Given the description of an element on the screen output the (x, y) to click on. 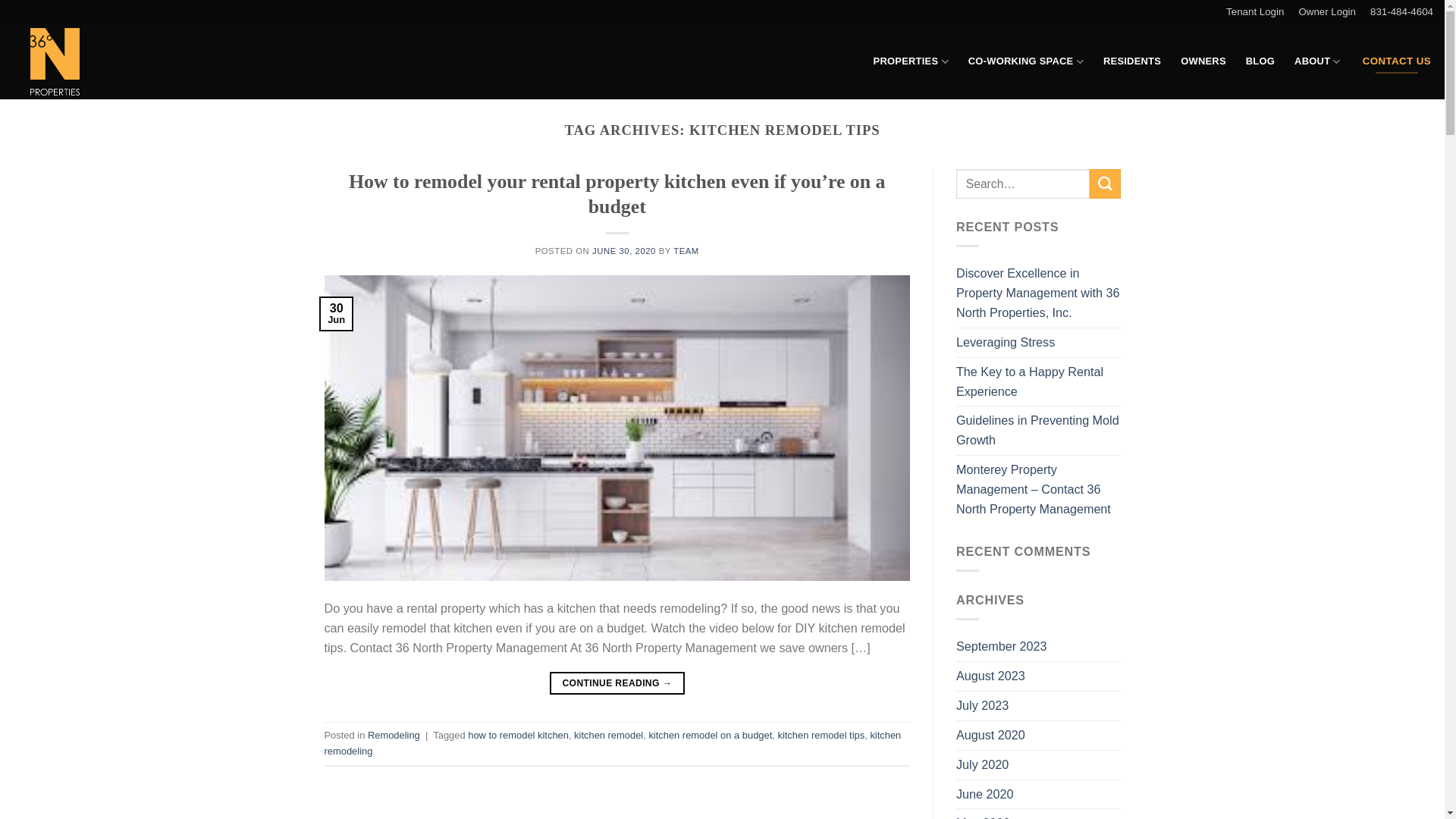
June 2020 Element type: text (984, 793)
BLOG Element type: text (1259, 61)
TEAM Element type: text (686, 250)
Guidelines in Preventing Mold Growth Element type: text (1038, 430)
Owner Login Element type: text (1334, 11)
Tenant Login Element type: text (1262, 11)
RESIDENTS Element type: text (1132, 61)
kitchen remodel tips Element type: text (820, 734)
July 2023 Element type: text (982, 705)
September 2023 Element type: text (1001, 646)
August 2020 Element type: text (990, 735)
July 2020 Element type: text (982, 764)
how to remodel kitchen Element type: text (517, 734)
Leveraging Stress Element type: text (1005, 342)
August 2023 Element type: text (990, 676)
CO-WORKING SPACE Element type: text (1025, 61)
kitchen remodel Element type: text (608, 734)
The Key to a Happy Rental Experience Element type: text (1038, 381)
Remodeling Element type: text (393, 734)
kitchen remodel on a budget Element type: text (709, 734)
CONTACT US Element type: text (1396, 61)
OWNERS Element type: text (1203, 61)
PROPERTIES Element type: text (910, 61)
ABOUT Element type: text (1317, 61)
831-484-4604 Element type: text (1401, 11)
kitchen remodeling Element type: text (612, 742)
JUNE 30, 2020 Element type: text (623, 250)
